Given the description of an element on the screen output the (x, y) to click on. 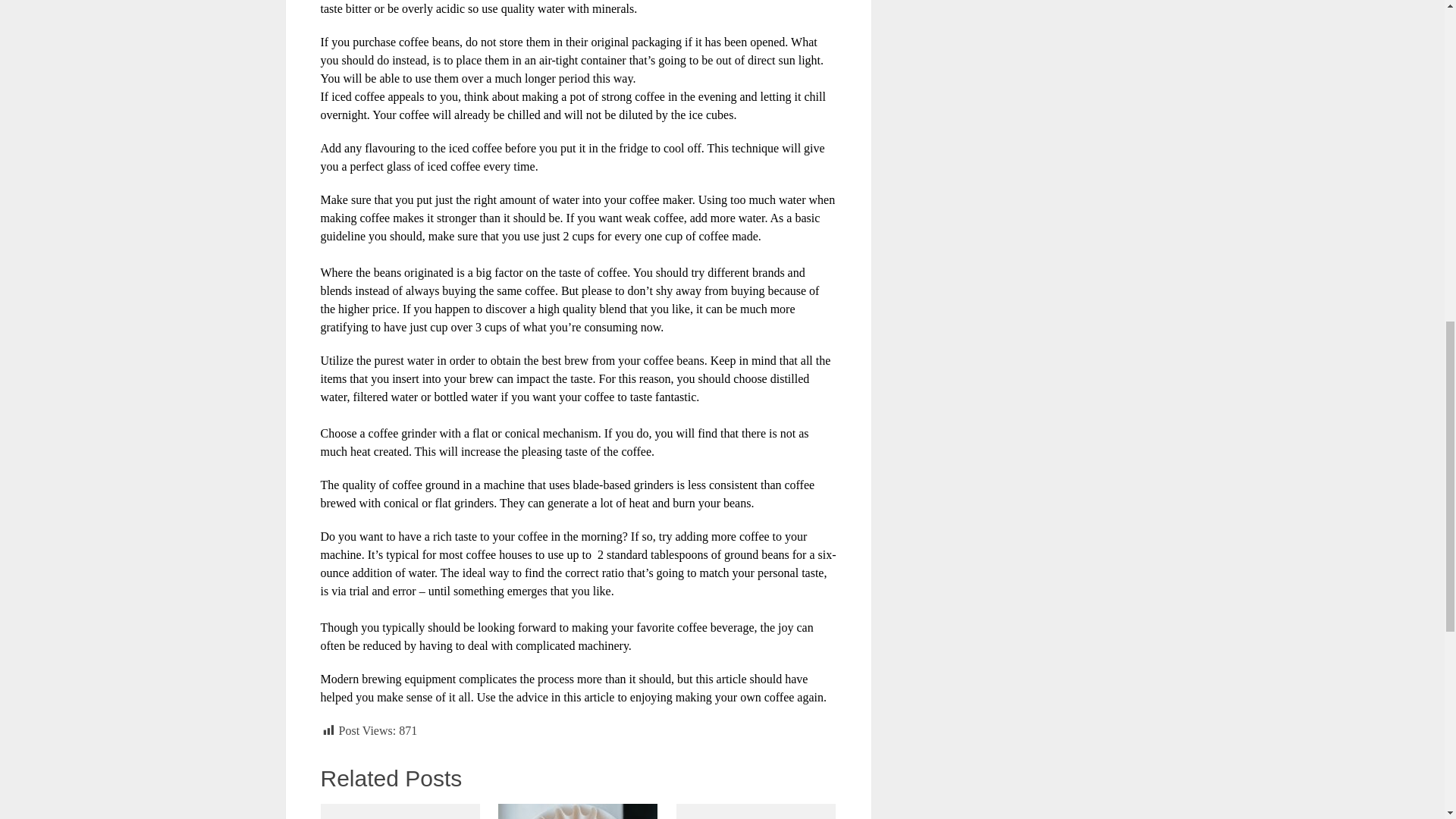
Best Guide In How To Make Coffee Without A Coffeemaker (577, 811)
Best Guide In How To Make Coffee Without A Coffeemaker (577, 811)
